Given the description of an element on the screen output the (x, y) to click on. 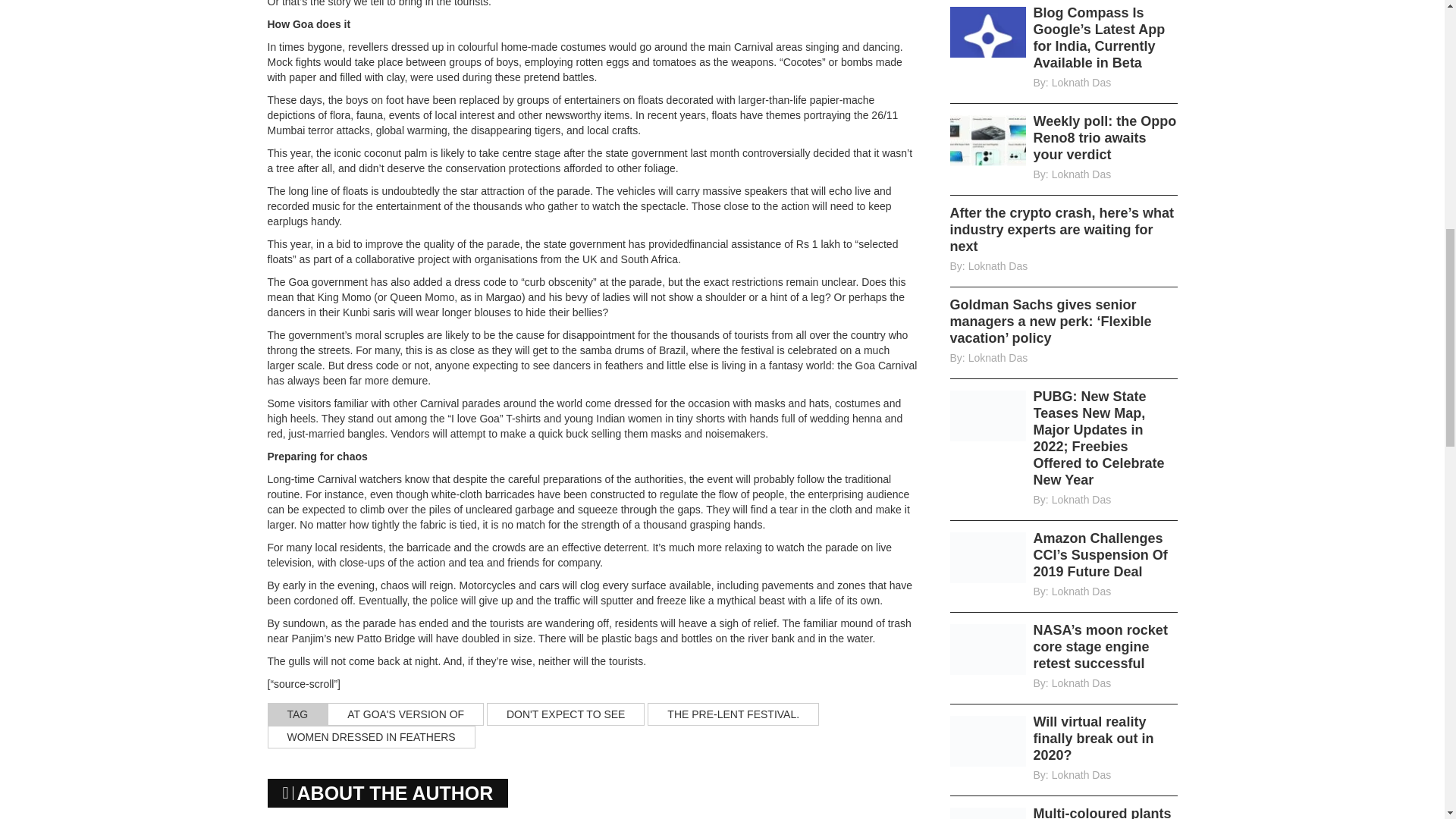
THE PRE-LENT FESTIVAL. (732, 713)
Posts by Loknath Das (1081, 174)
Posts by Loknath Das (997, 265)
Posts by Loknath Das (997, 357)
WOMEN DRESSED IN FEATHERS (370, 736)
Posts by Loknath Das (1081, 591)
DON'T EXPECT TO SEE (565, 713)
Posts by Loknath Das (1081, 499)
Posts by Loknath Das (1081, 82)
AT GOA'S VERSION OF (405, 713)
